Given the description of an element on the screen output the (x, y) to click on. 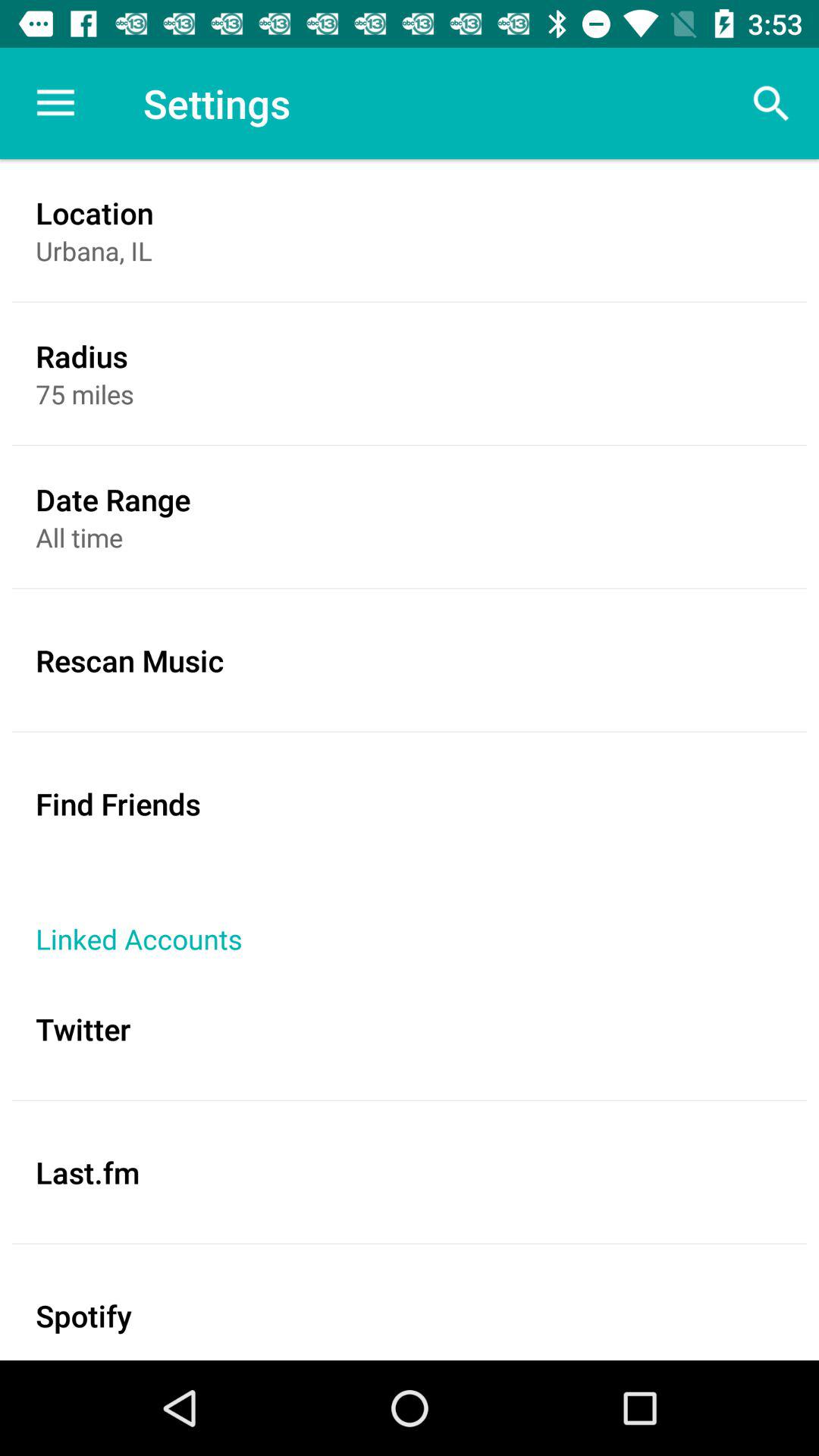
open the icon to the right of the settings icon (771, 103)
